Given the description of an element on the screen output the (x, y) to click on. 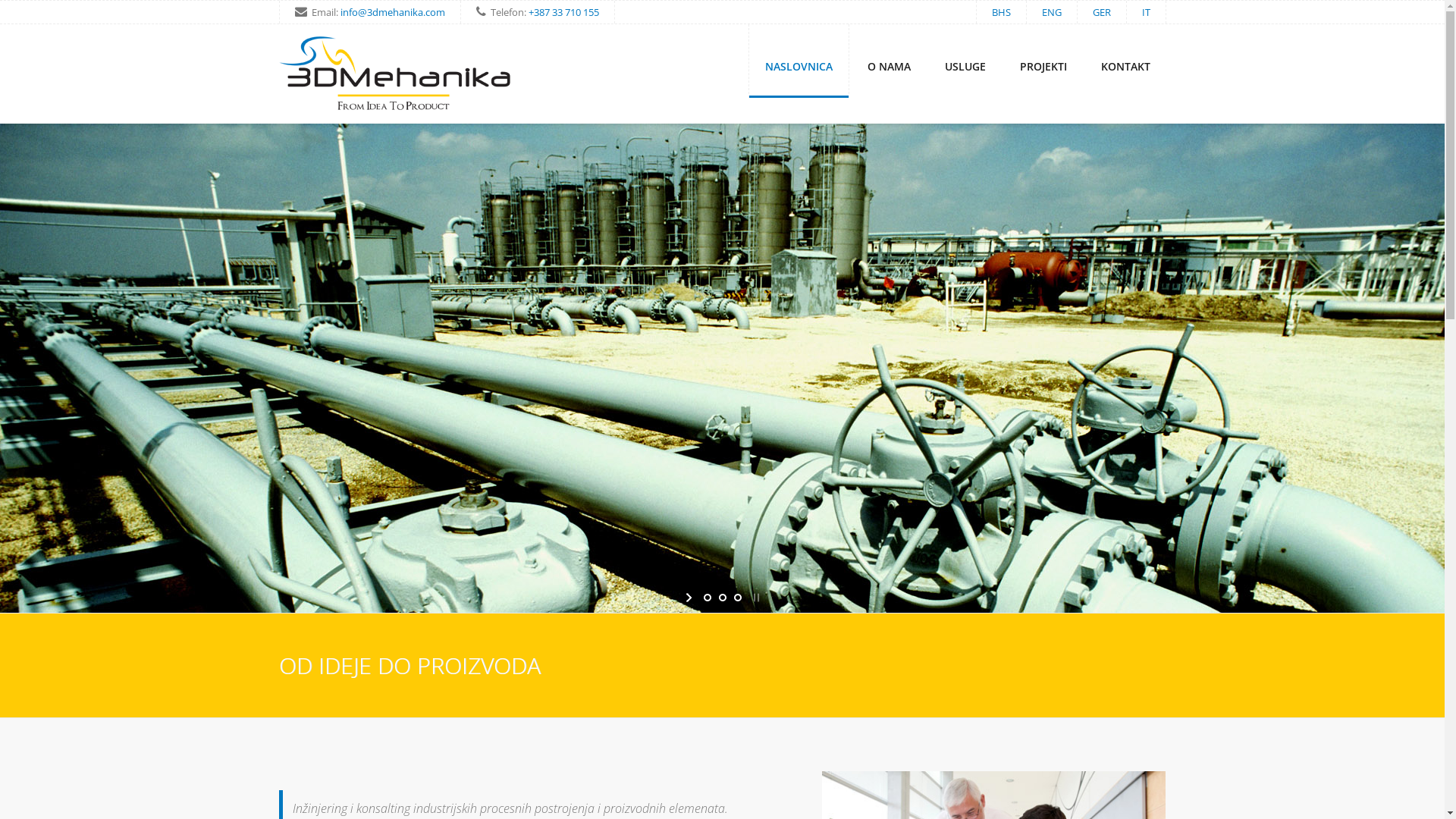
O NAMA Element type: text (887, 60)
info@3dmehanika.com Element type: text (391, 11)
NASLOVNICA Element type: text (797, 60)
BHS Element type: text (1000, 11)
KONTAKT Element type: text (1124, 60)
USLUGE Element type: text (964, 60)
ENG Element type: text (1051, 11)
PROJEKTI Element type: text (1043, 60)
3D Mehanika Sarajevo Element type: hover (395, 75)
GER Element type: text (1101, 11)
IT Element type: text (1146, 11)
